Given the description of an element on the screen output the (x, y) to click on. 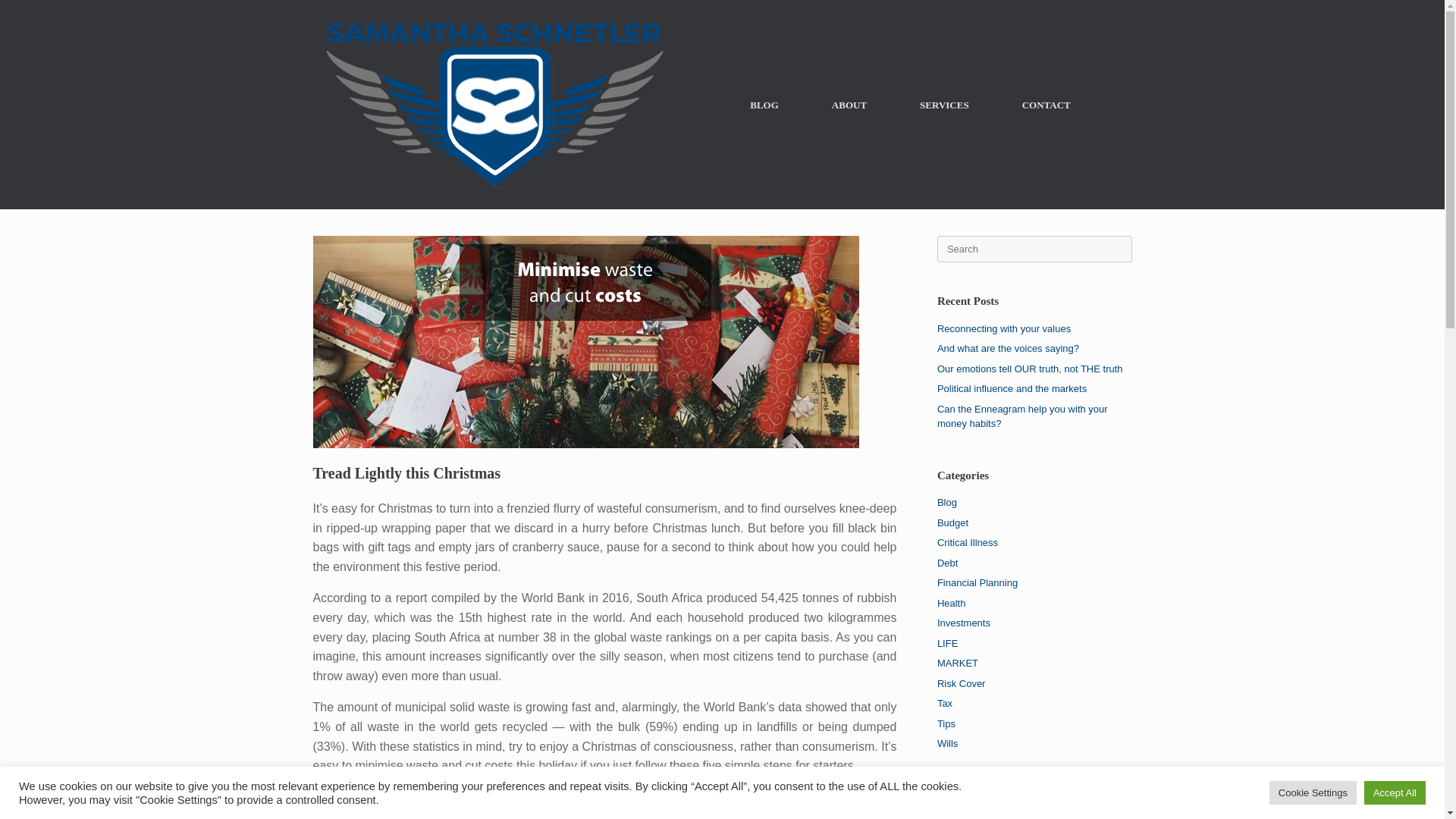
Reconnecting with your values (1003, 328)
Samantha Schnetler (495, 104)
LIFE (947, 642)
Can the Enneagram help you with your money habits? (1022, 416)
SERVICES (944, 105)
Health (951, 603)
Investments (963, 622)
Tips (946, 722)
CONTACT (1046, 105)
Blog (946, 501)
Our emotions tell OUR truth, not THE truth (1029, 367)
Political influence and the markets (1011, 388)
Financial Planning (977, 582)
Critical Illness (967, 542)
Risk Cover (961, 683)
